Given the description of an element on the screen output the (x, y) to click on. 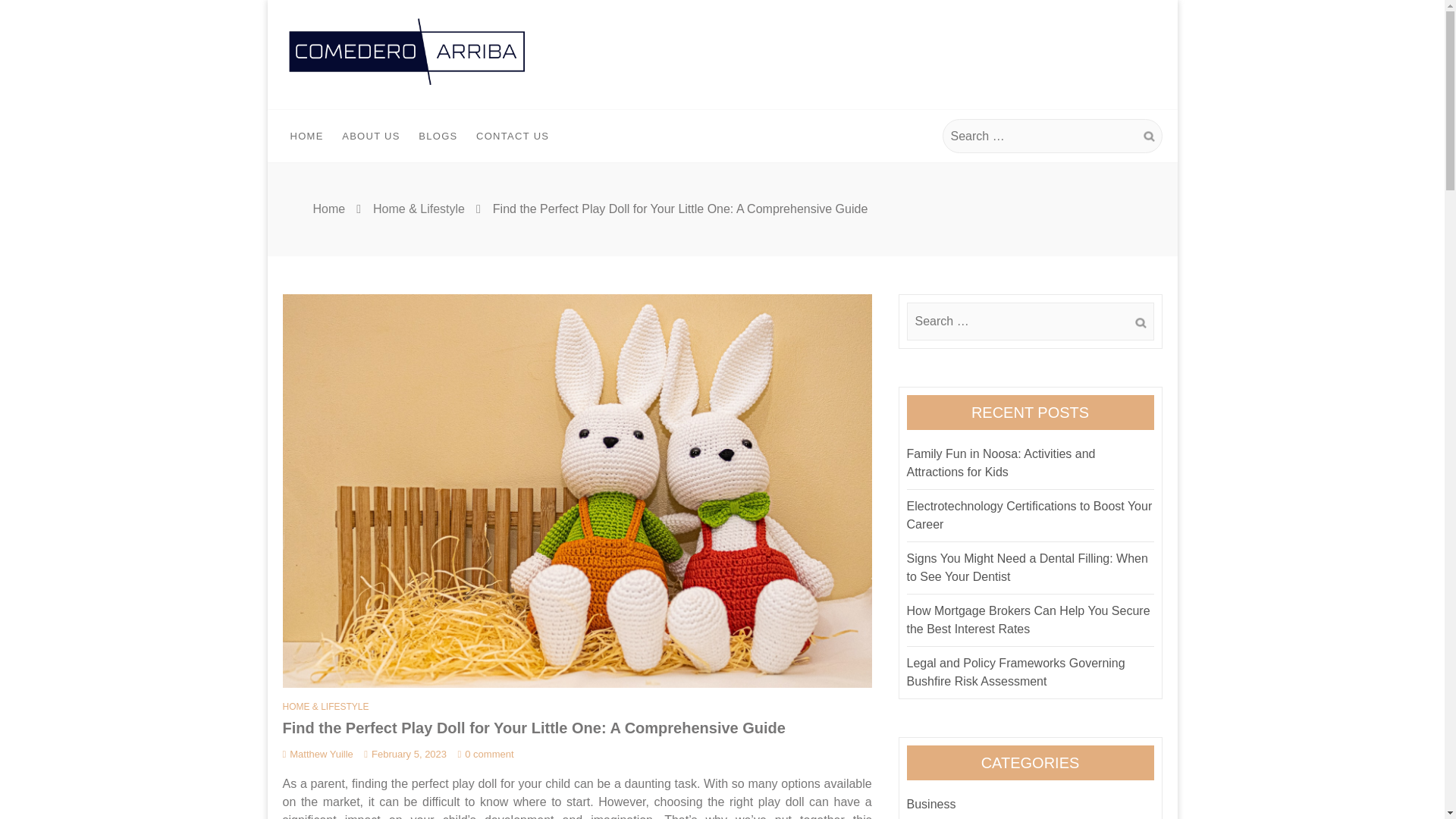
Home (329, 208)
0 comment (485, 754)
Search (1139, 323)
BLOGS (437, 135)
Search (1148, 136)
Matthew Yuille (317, 754)
Search (1139, 323)
CONTACT US (512, 135)
Search (1148, 136)
Search (1148, 136)
Business (931, 803)
